Given the description of an element on the screen output the (x, y) to click on. 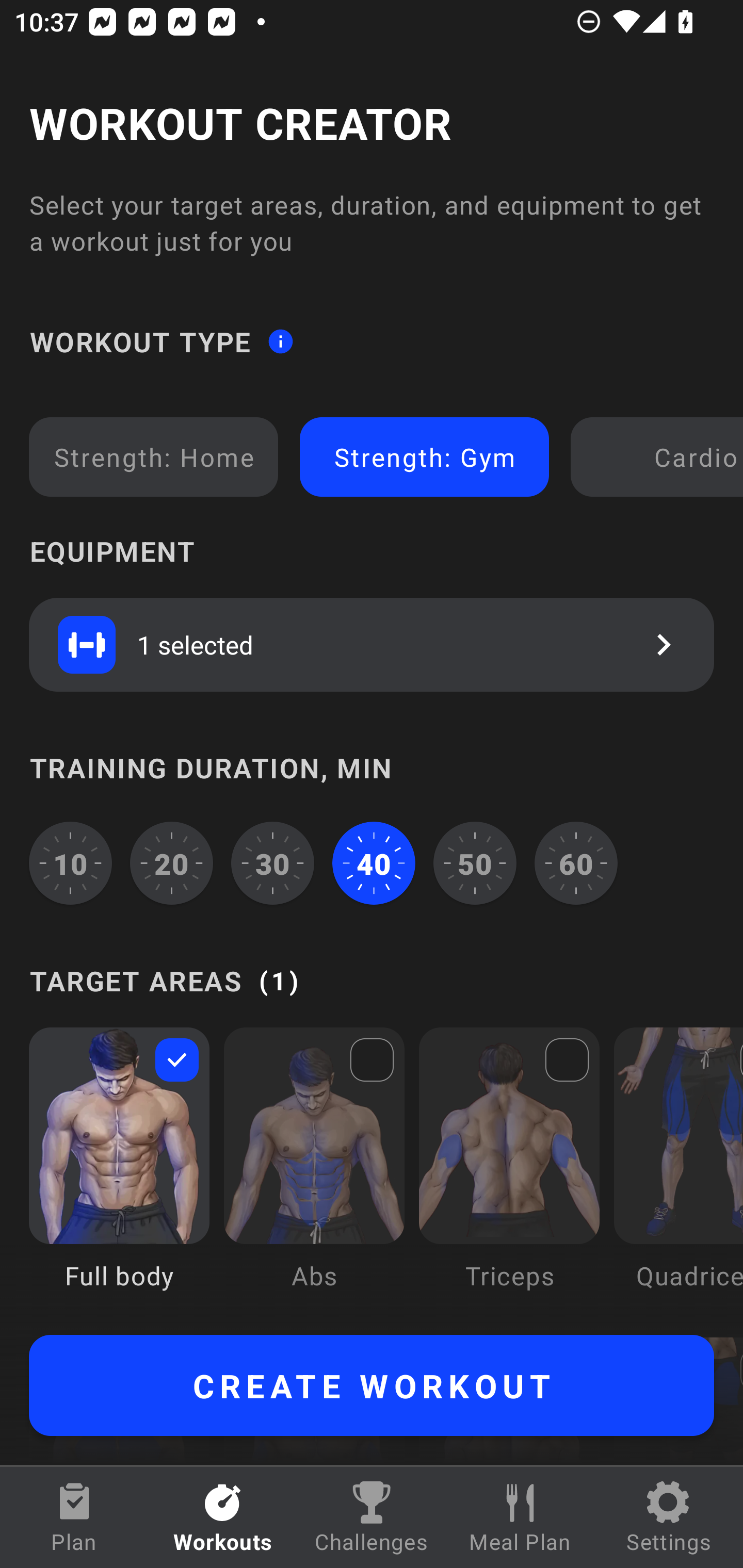
Workout type information button (280, 340)
Strength: Home (153, 457)
Cardio (660, 457)
1 selected (371, 644)
10 (70, 863)
20 (171, 863)
30 (272, 863)
40 (373, 863)
50 (474, 863)
60 (575, 863)
Abs (313, 1172)
Triceps (509, 1172)
Quadriceps (678, 1172)
CREATE WORKOUT (371, 1385)
 Plan  (74, 1517)
 Challenges  (371, 1517)
 Meal Plan  (519, 1517)
 Settings  (668, 1517)
